Given the description of an element on the screen output the (x, y) to click on. 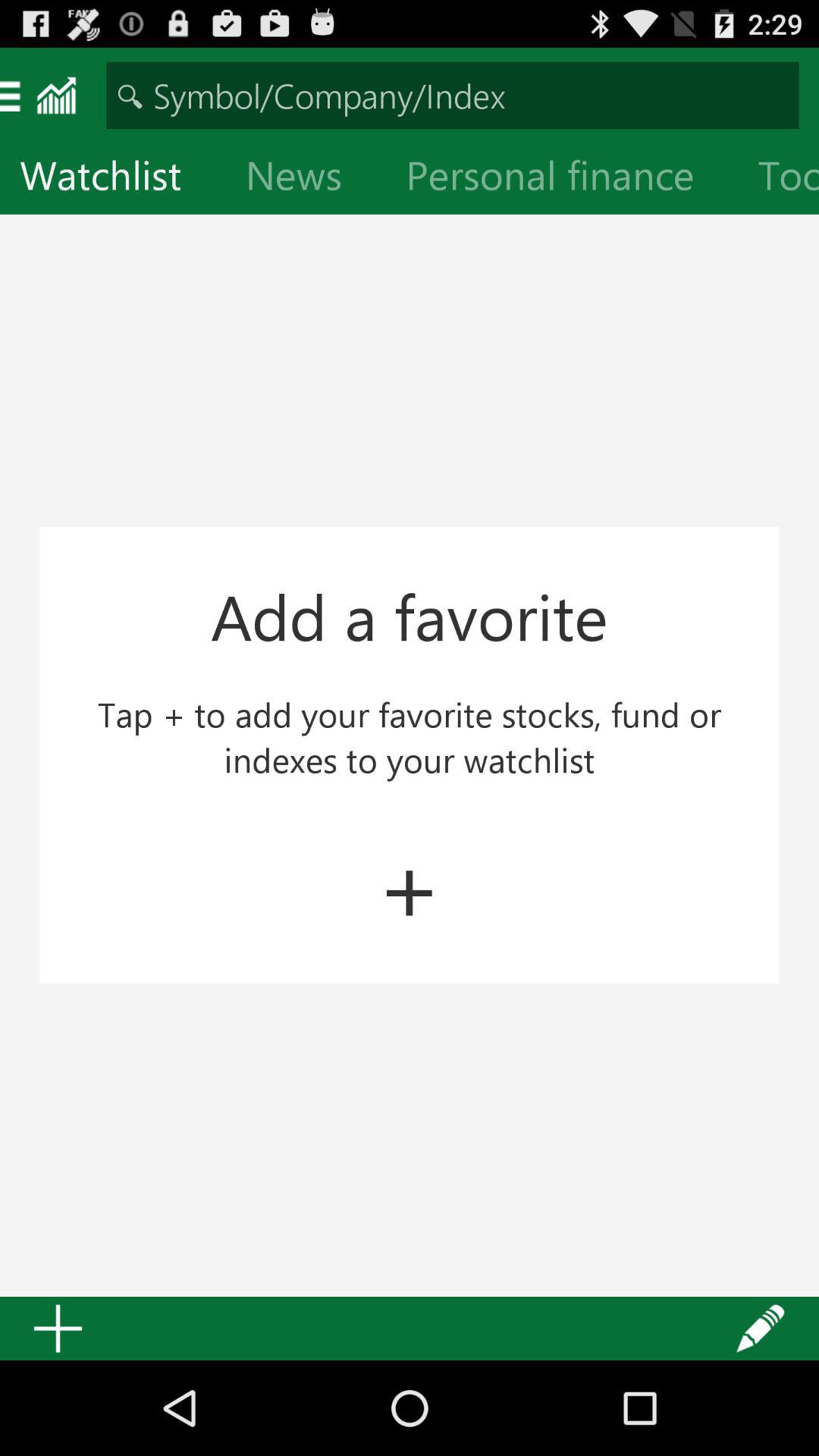
turn on personal finance (562, 178)
